Given the description of an element on the screen output the (x, y) to click on. 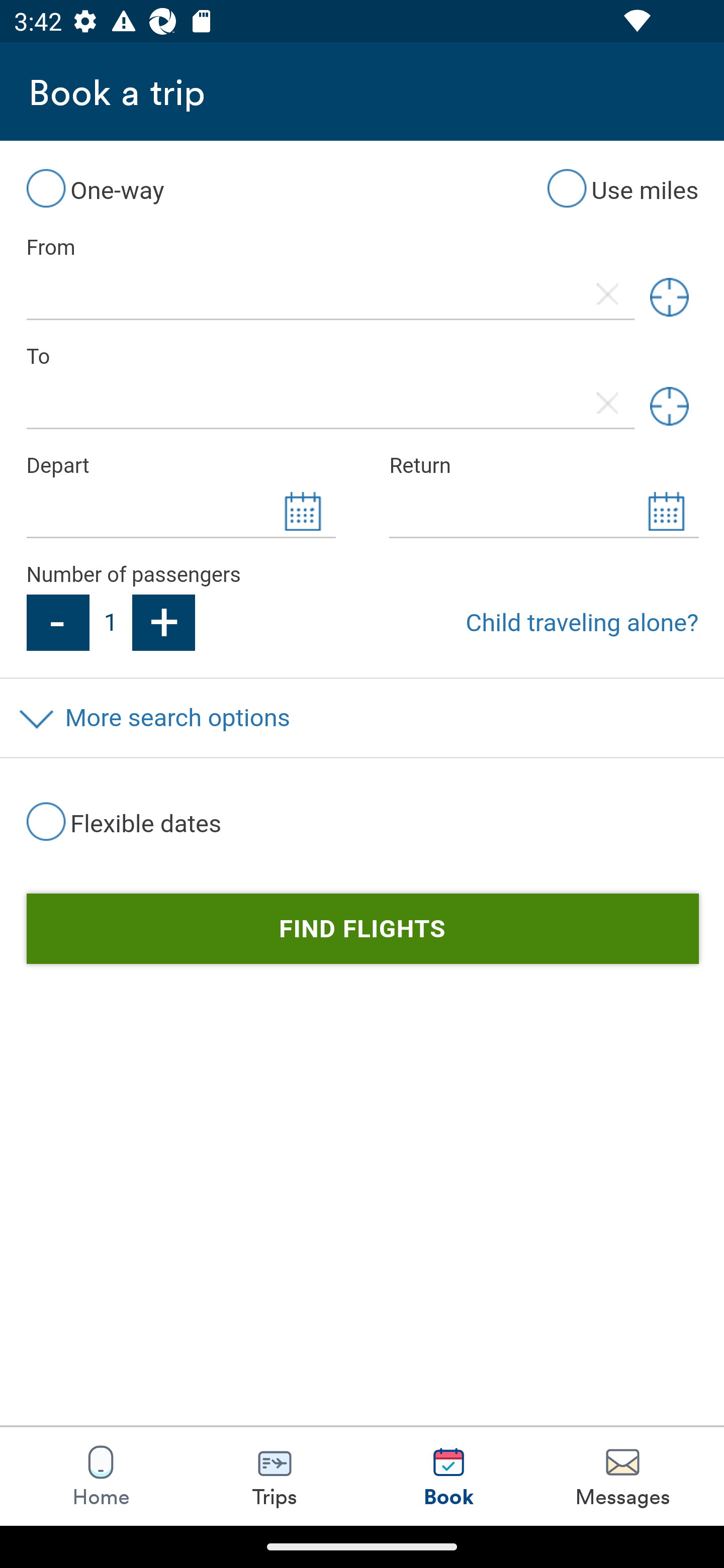
One-way (94, 187)
Use miles (622, 187)
Geolocation (669, 297)
Geolocation (669, 405)
Depart (179, 465)
Return (544, 465)
- (56, 622)
+ (163, 622)
Child traveling alone? (582, 622)
More search options (362, 717)
Find Flights (362, 929)
Home (100, 1475)
Trips (275, 1475)
Book (448, 1475)
Messages (622, 1475)
